Given the description of an element on the screen output the (x, y) to click on. 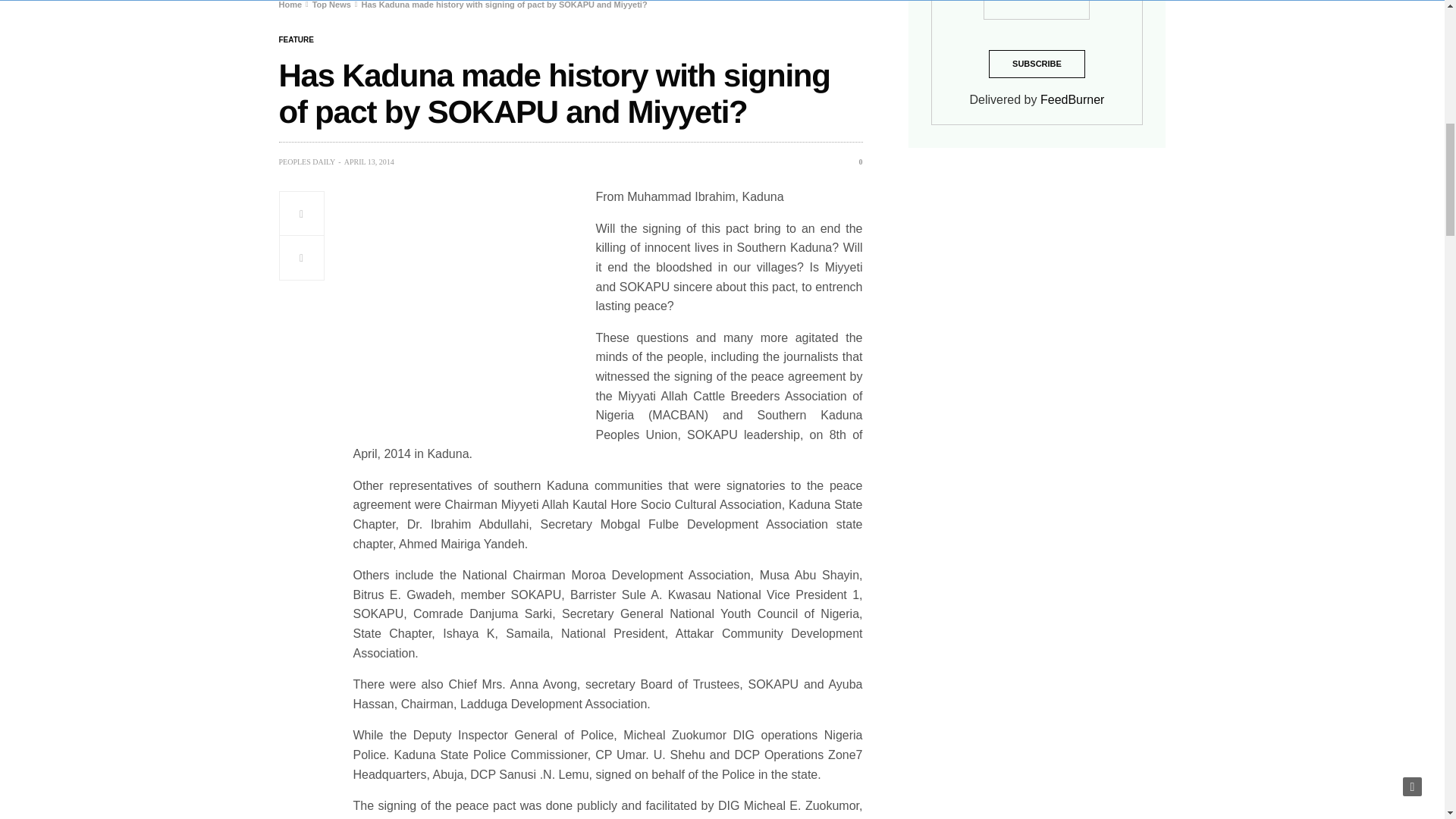
Home (290, 4)
Top News (331, 4)
Feature (296, 40)
FEATURE (296, 40)
0 (855, 162)
PEOPLES DAILY (307, 162)
Subscribe (1036, 63)
Posts by Peoples Daily (307, 162)
